Given the description of an element on the screen output the (x, y) to click on. 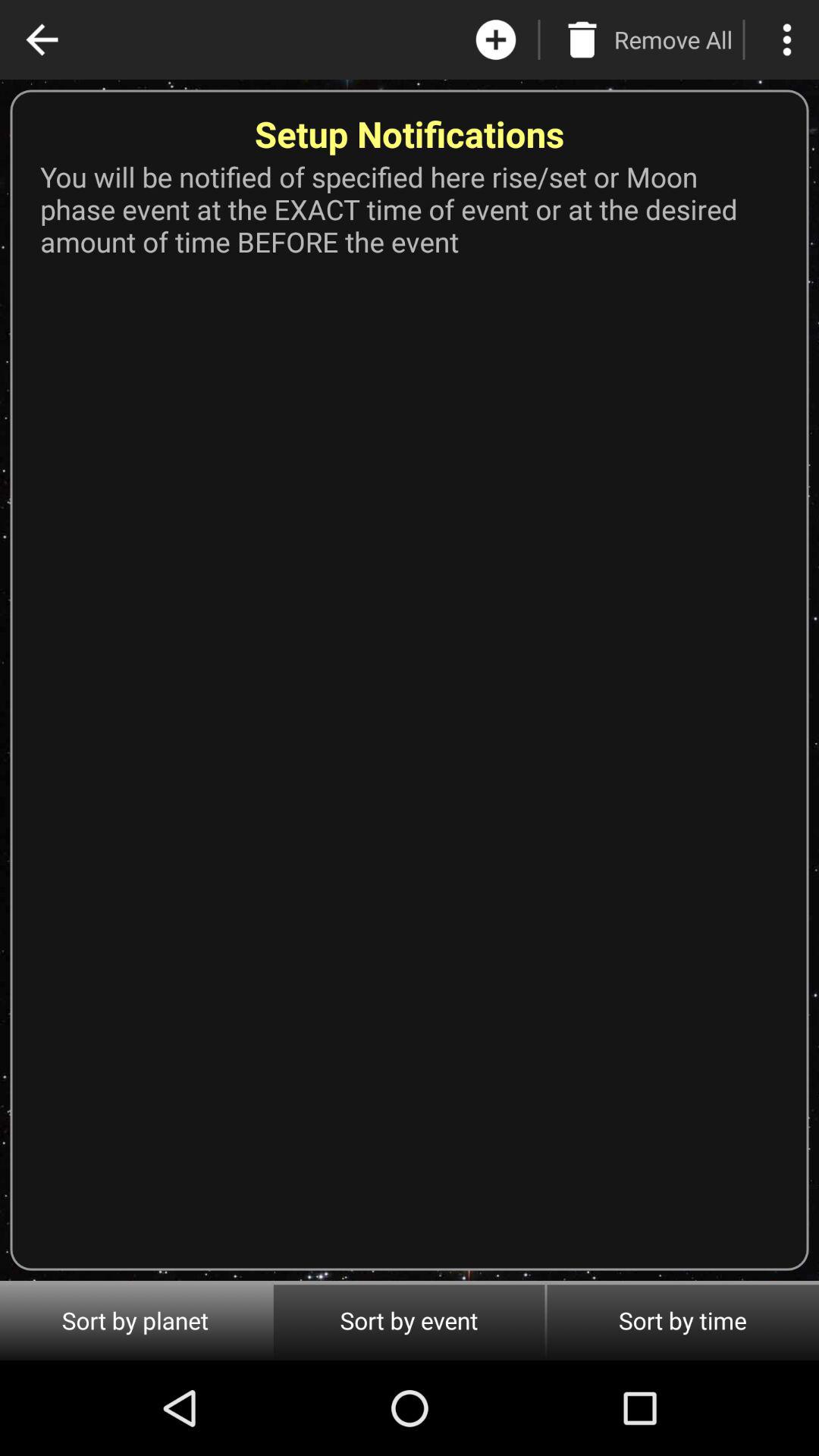
add event (495, 39)
